Given the description of an element on the screen output the (x, y) to click on. 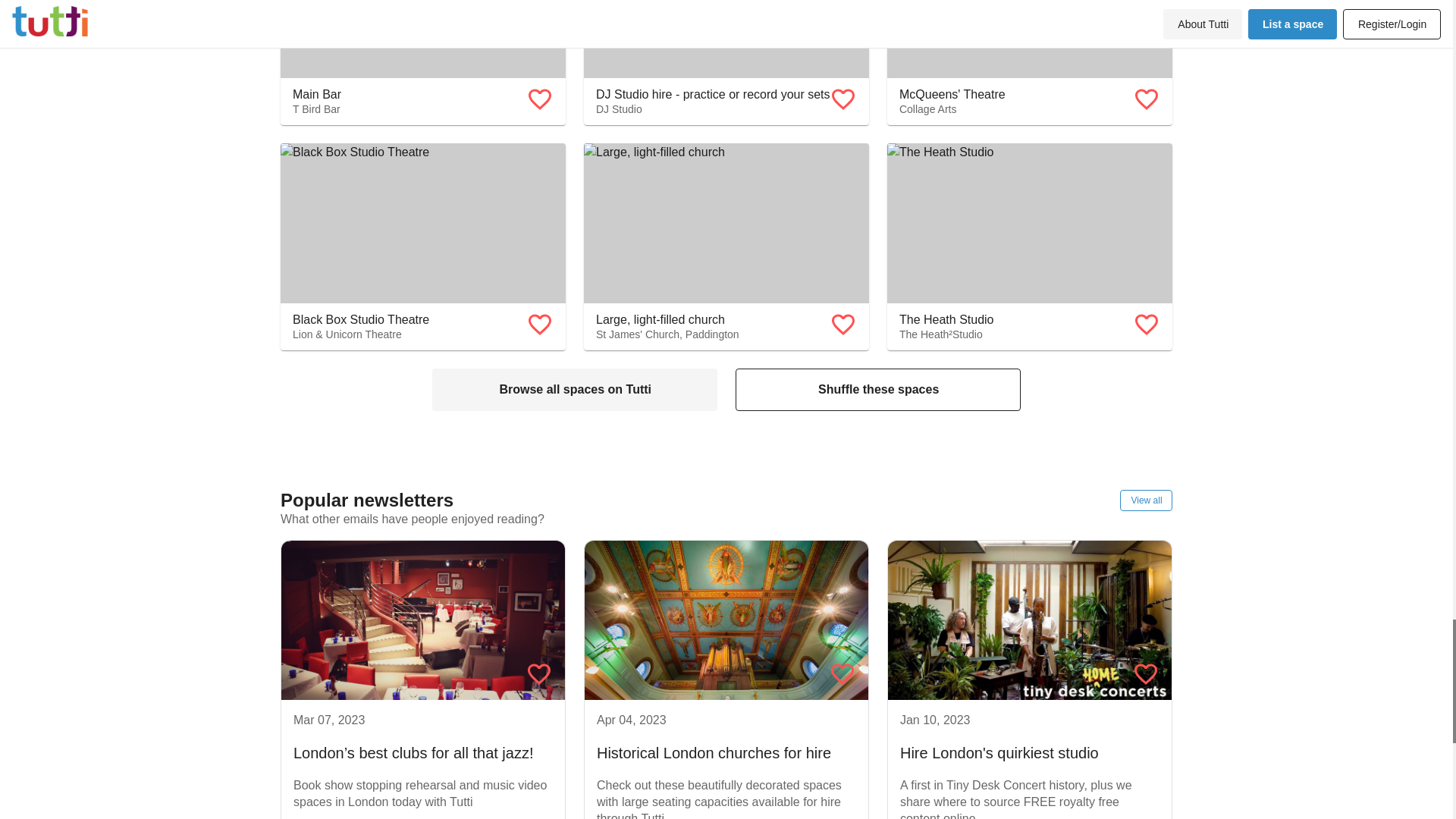
Browse all spaces on Tutti (726, 62)
